Given the description of an element on the screen output the (x, y) to click on. 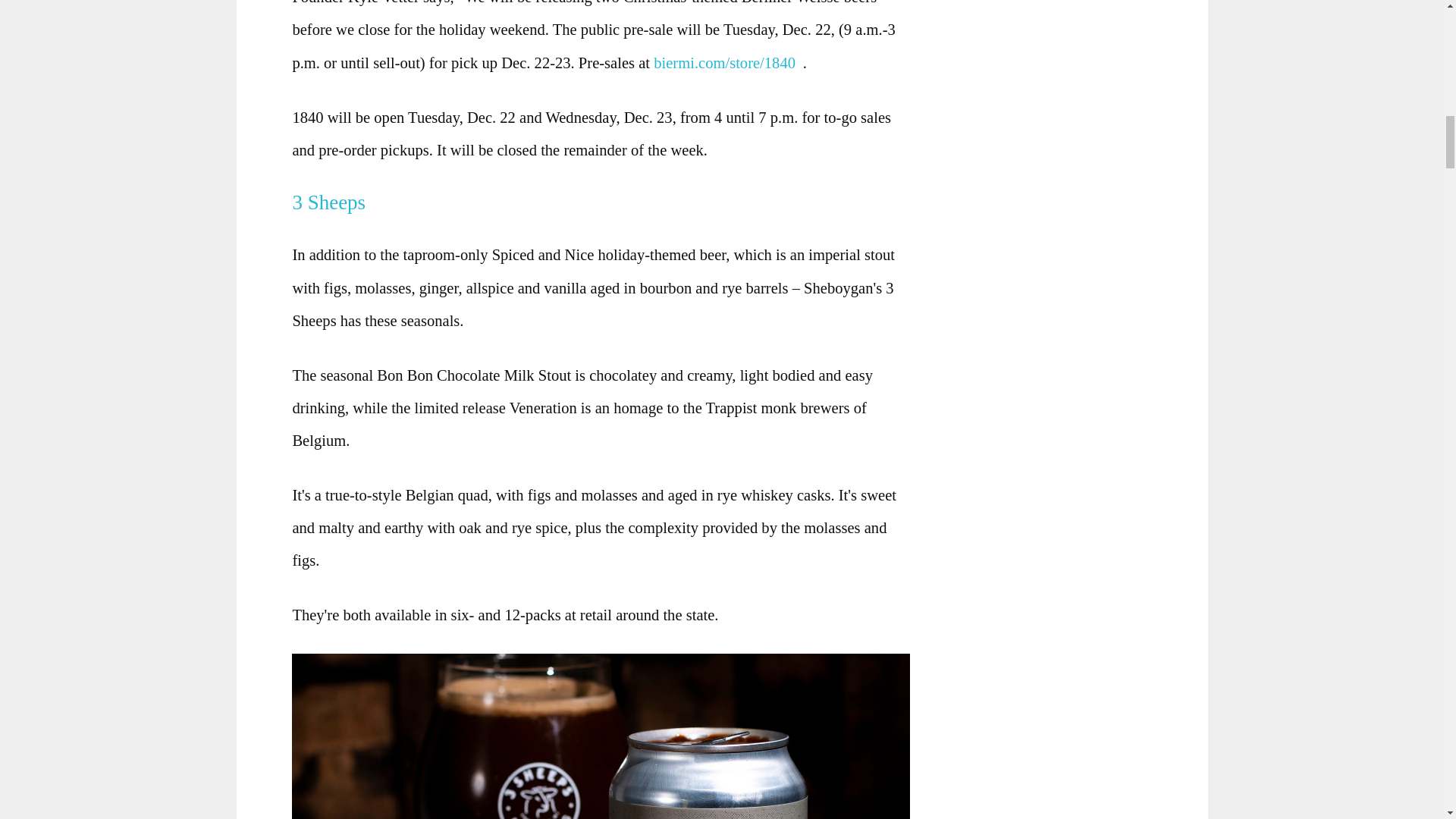
3 Sheeps (333, 201)
